Given the description of an element on the screen output the (x, y) to click on. 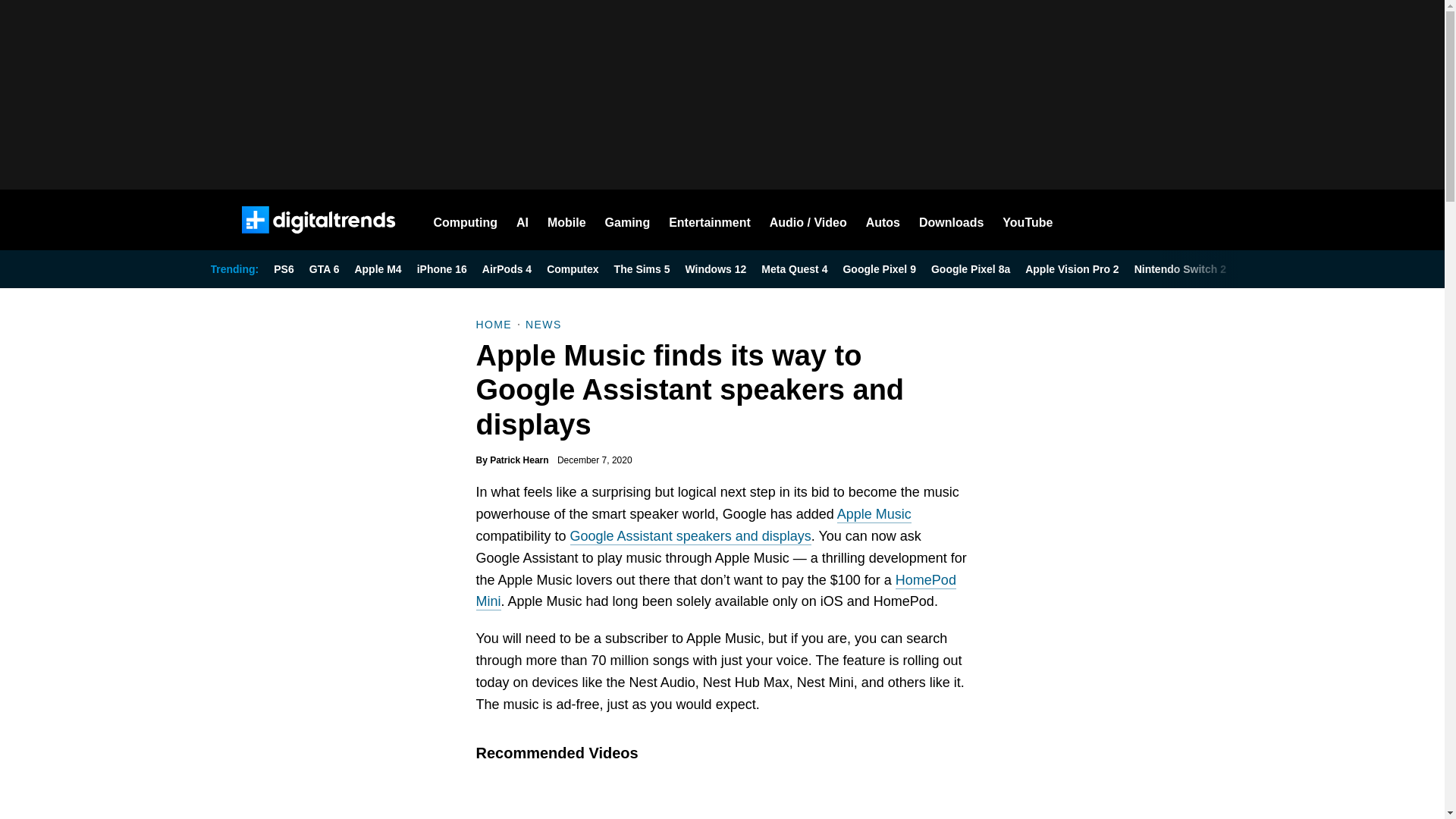
Computing (465, 219)
Downloads (951, 219)
Entertainment (709, 219)
